Given the description of an element on the screen output the (x, y) to click on. 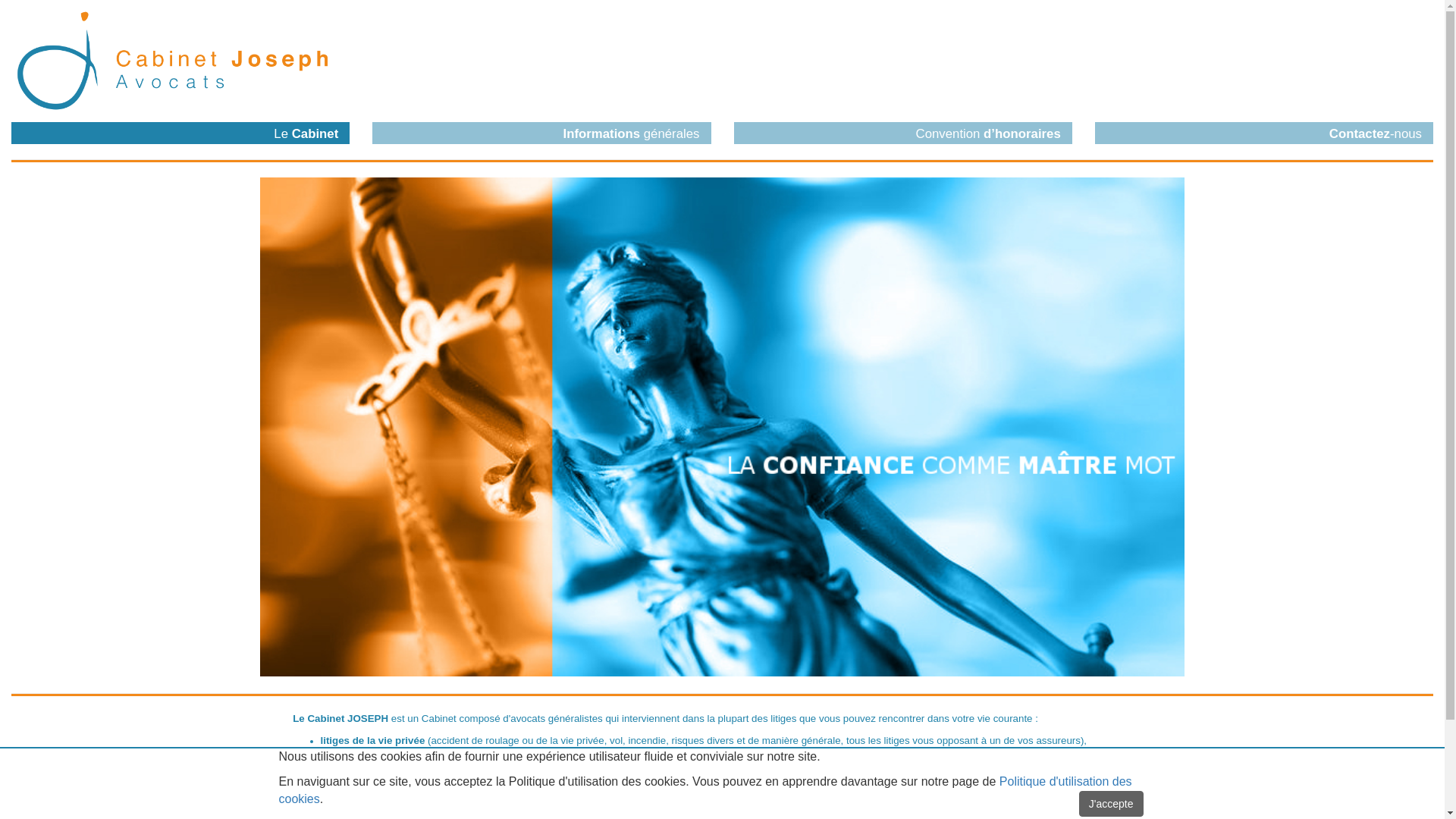
Le Cabinet Element type: text (180, 133)
J'accepte Element type: text (1111, 803)
Contactez-nous Element type: text (1264, 133)
Politique d'utilisation des cookies Element type: text (705, 790)
